Given the description of an element on the screen output the (x, y) to click on. 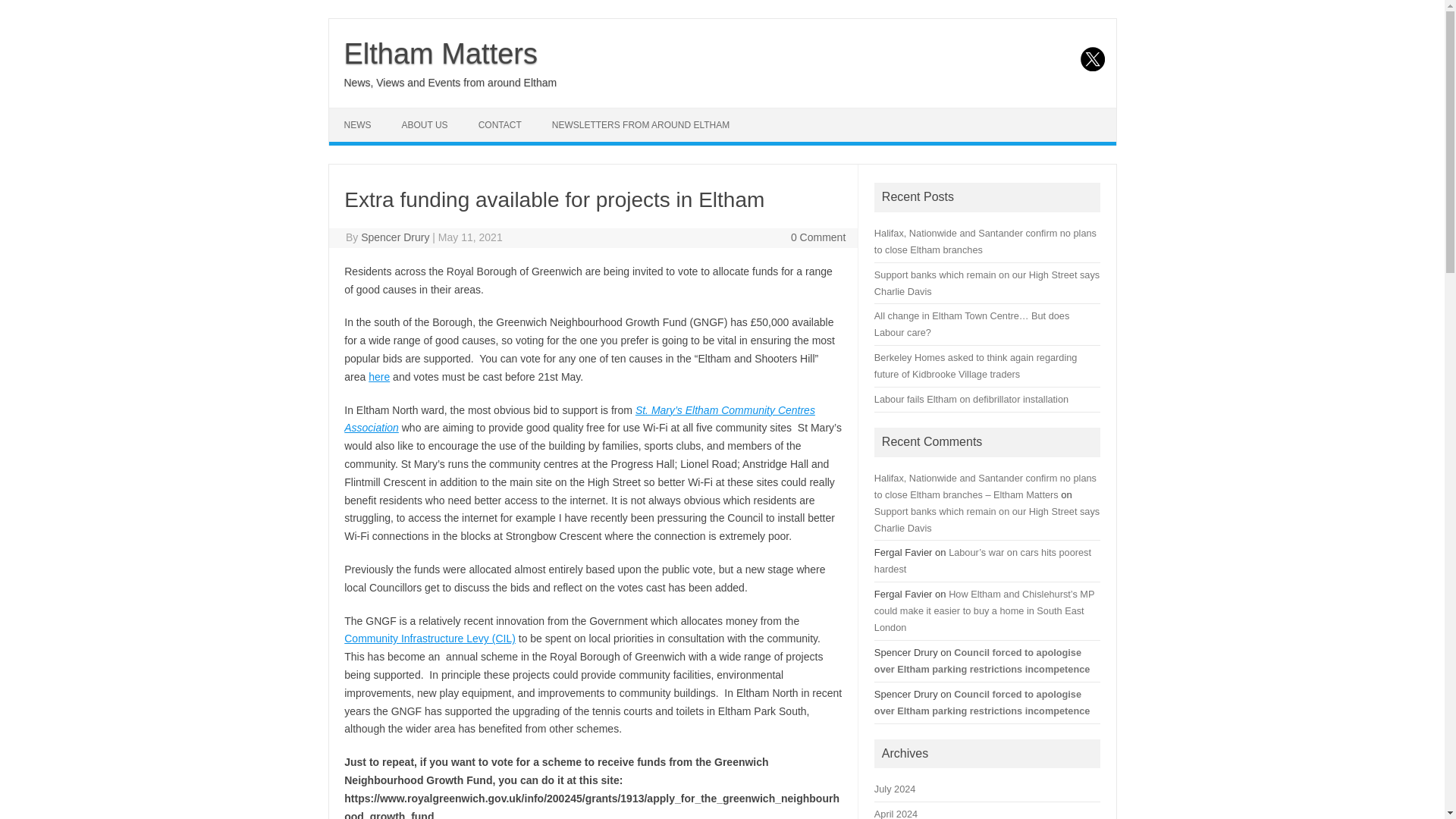
NEWS (358, 124)
0 Comment (817, 236)
Posts by Spencer Drury (395, 236)
NEWSLETTERS FROM AROUND ELTHAM (640, 124)
ABOUT US (425, 124)
